Given the description of an element on the screen output the (x, y) to click on. 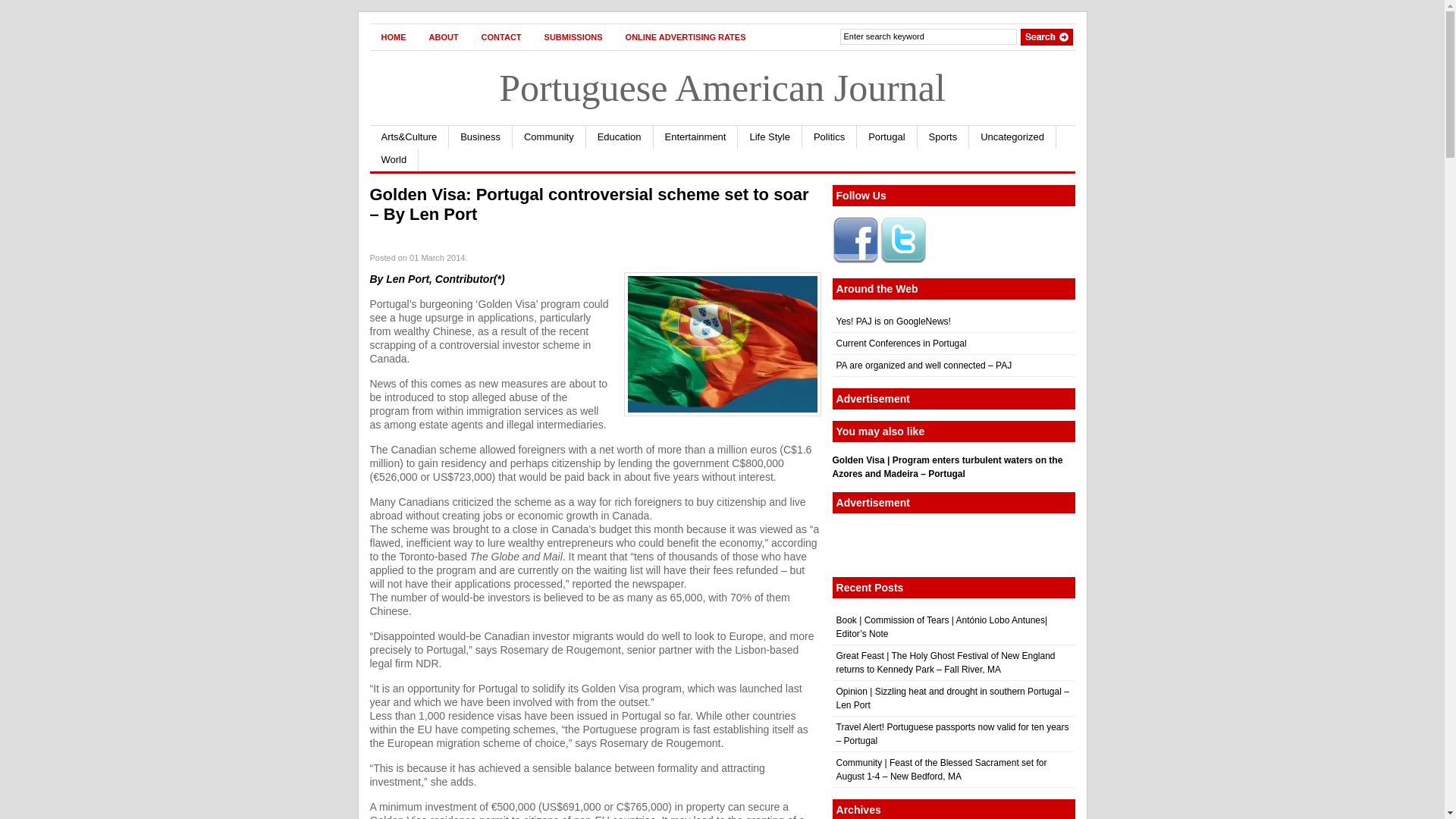
SUBMISSIONS (573, 36)
Portugal (887, 137)
ONLINE ADVERTISING RATES (685, 36)
Life Style (770, 137)
CONTACT (501, 36)
Education (619, 137)
Business (480, 137)
Enter search keyword (928, 36)
Entertainment (695, 137)
Community (549, 137)
